Given the description of an element on the screen output the (x, y) to click on. 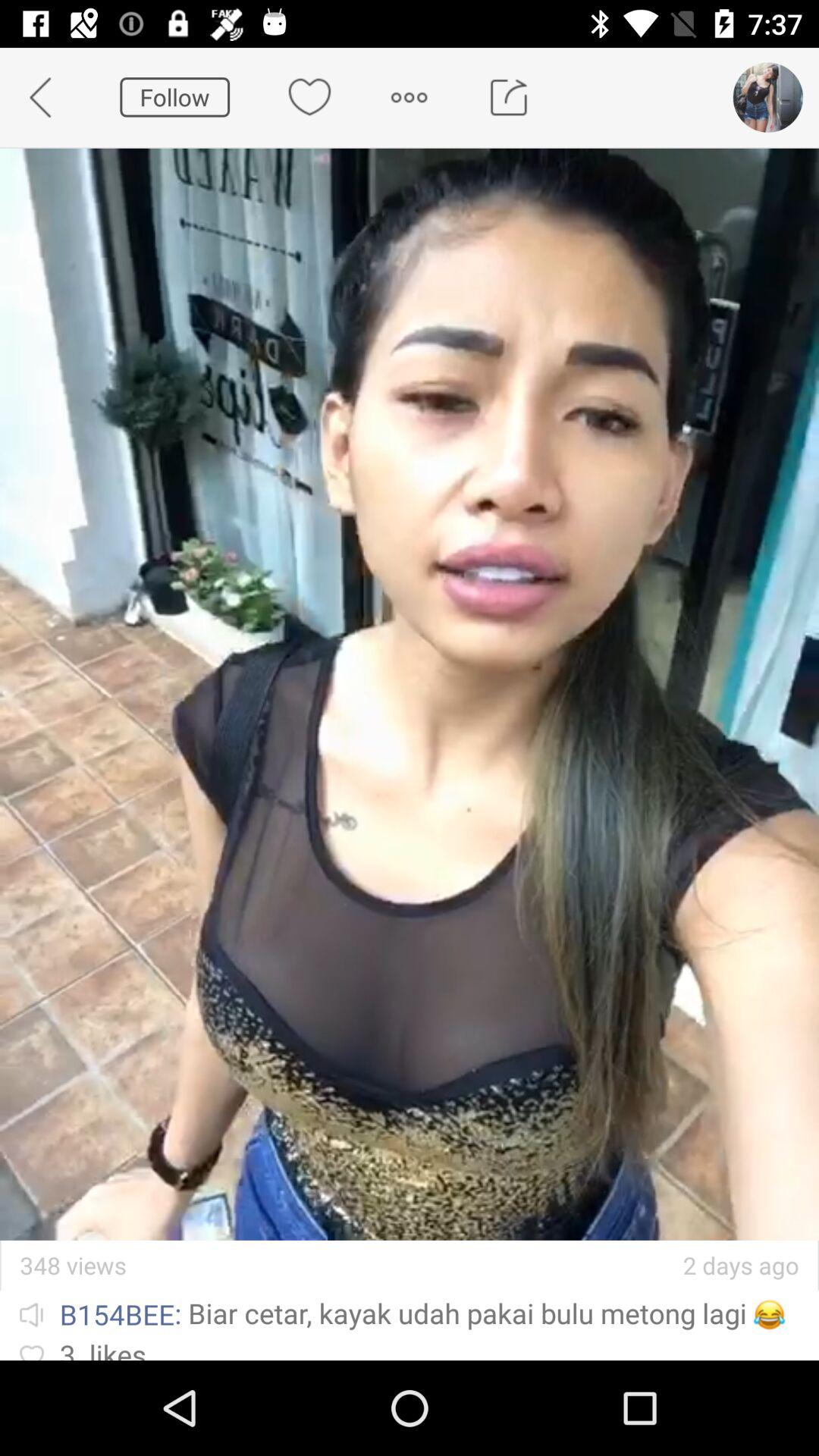
scroll to ib154bee biar cetar item (409, 1313)
